Given the description of an element on the screen output the (x, y) to click on. 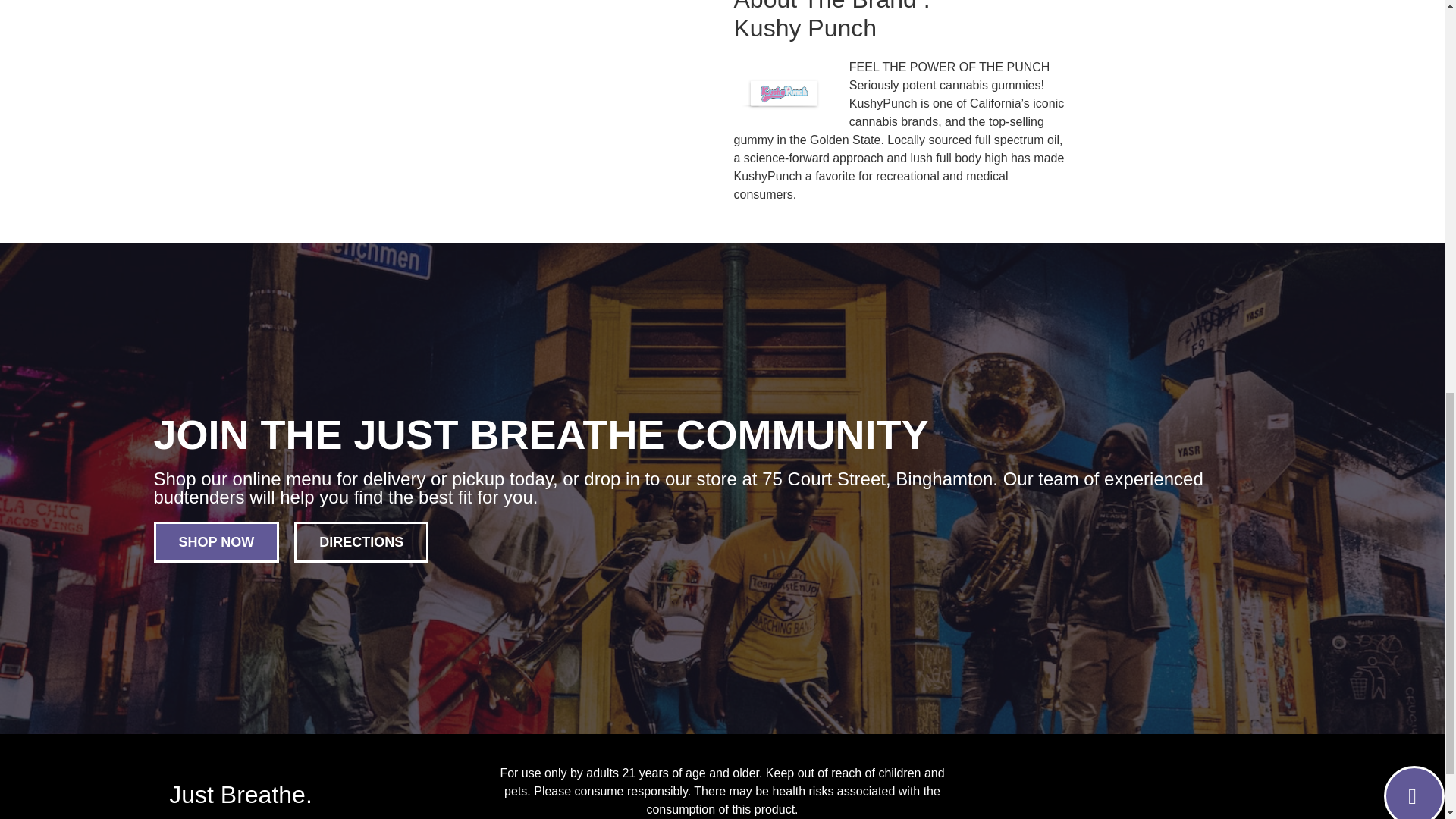
SHOP NOW (215, 541)
DIRECTIONS (361, 541)
Just Breathe. (240, 794)
